Given the description of an element on the screen output the (x, y) to click on. 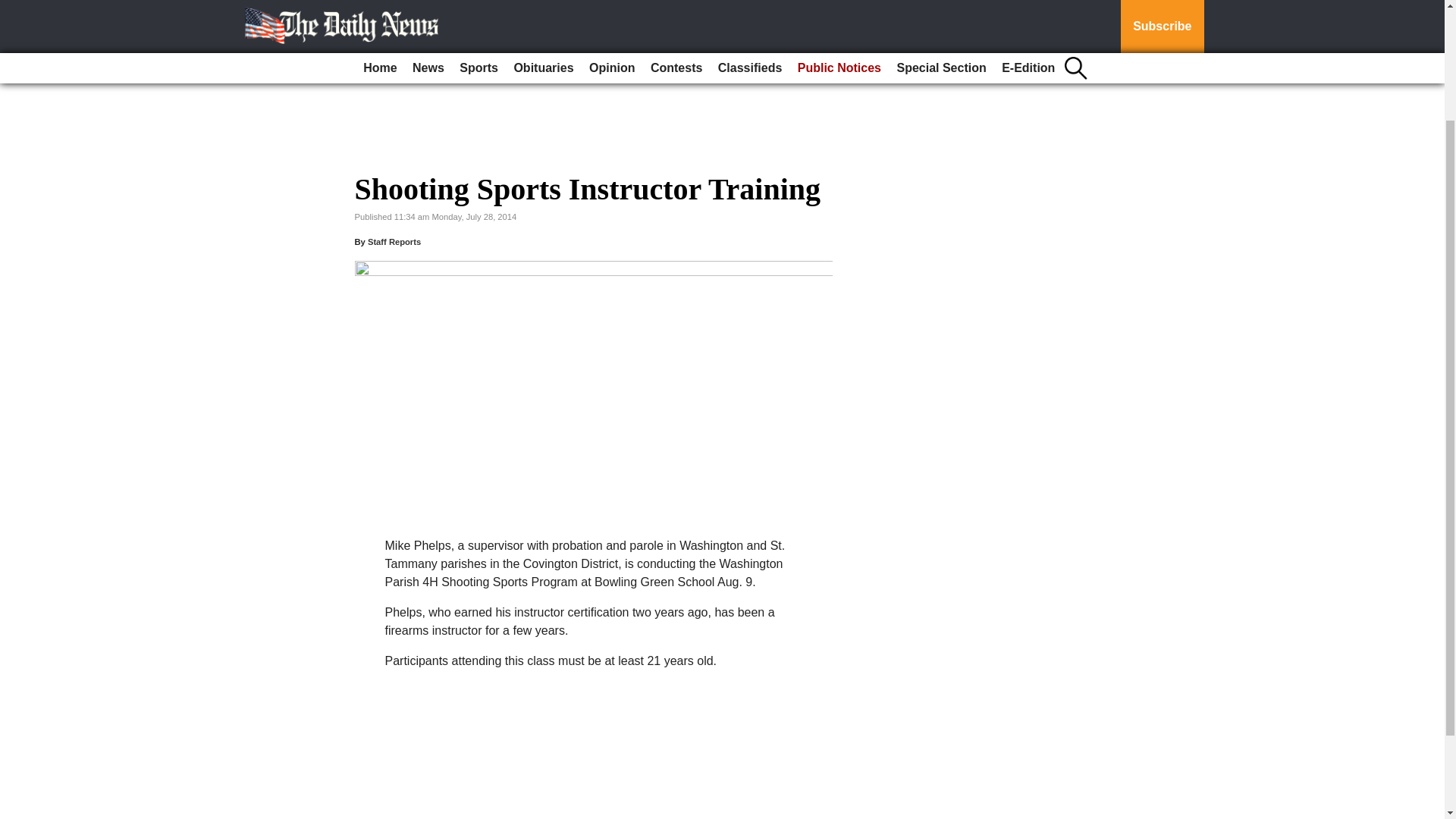
Staff Reports (394, 241)
